Given the description of an element on the screen output the (x, y) to click on. 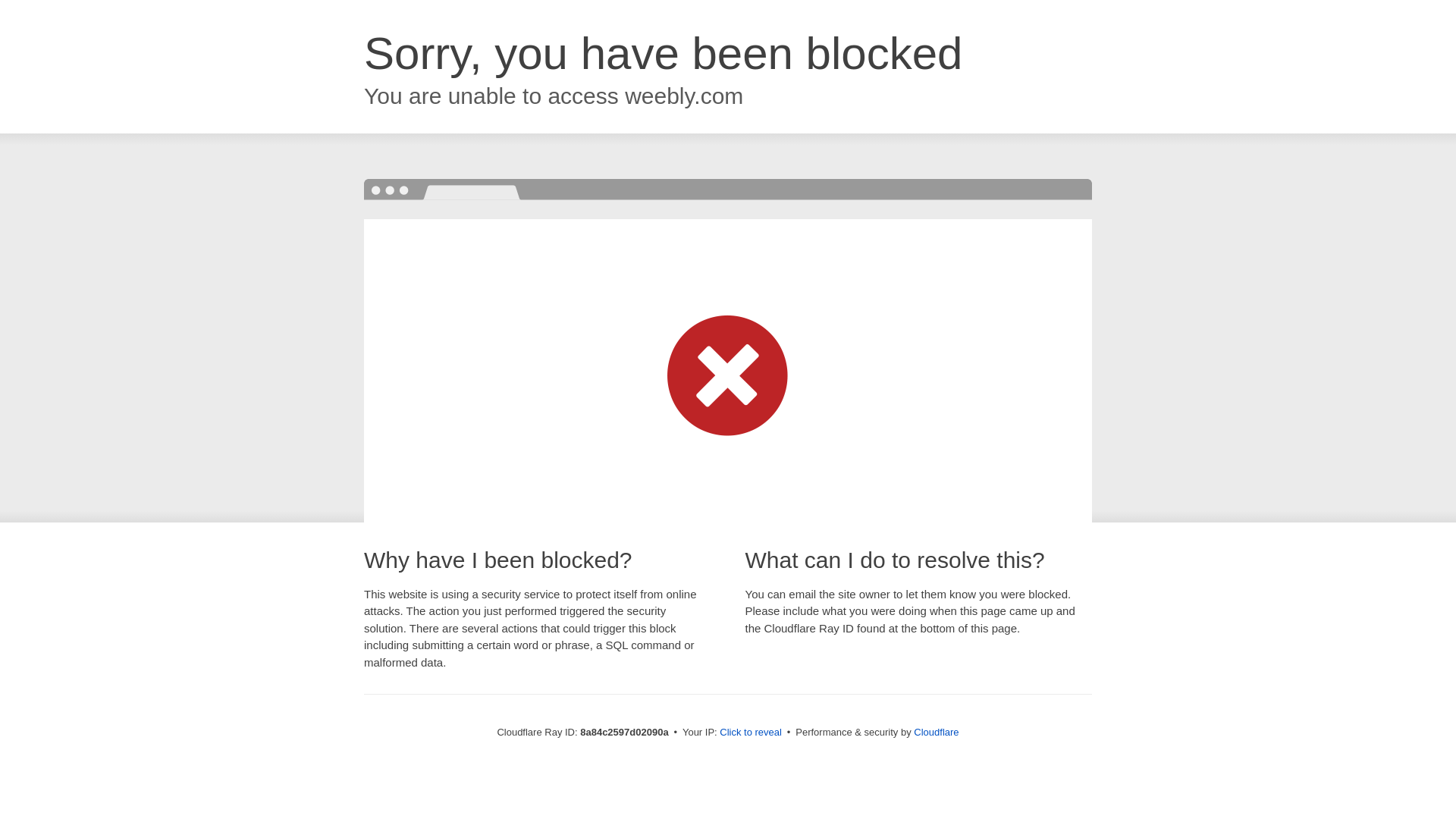
Cloudflare (936, 731)
Click to reveal (750, 732)
